Given the description of an element on the screen output the (x, y) to click on. 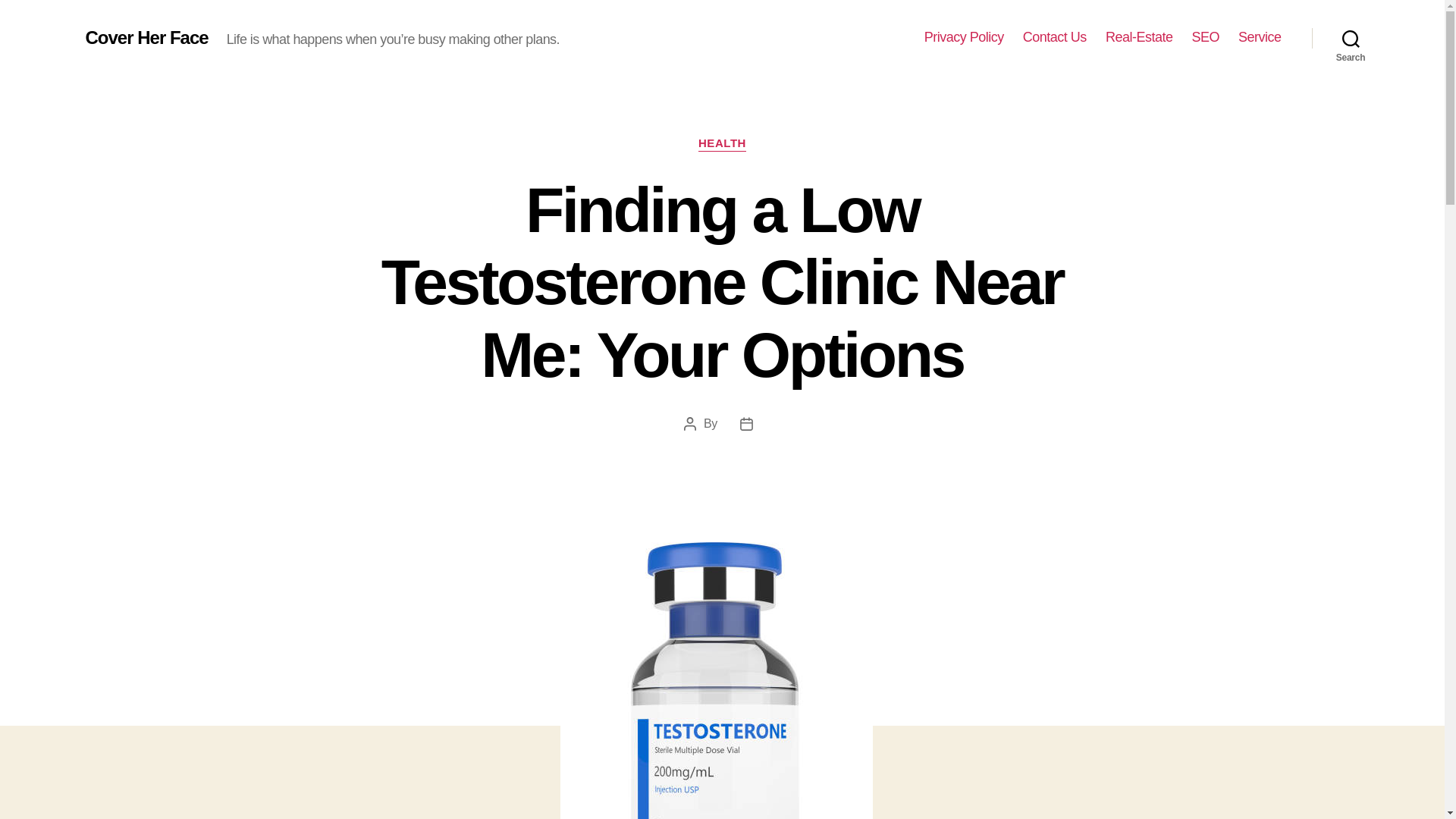
Privacy Policy (964, 37)
SEO (1205, 37)
Service (1260, 37)
Contact Us (1054, 37)
Real-Estate (1139, 37)
HEALTH (721, 143)
Cover Her Face (146, 37)
Search (1350, 37)
